Given the description of an element on the screen output the (x, y) to click on. 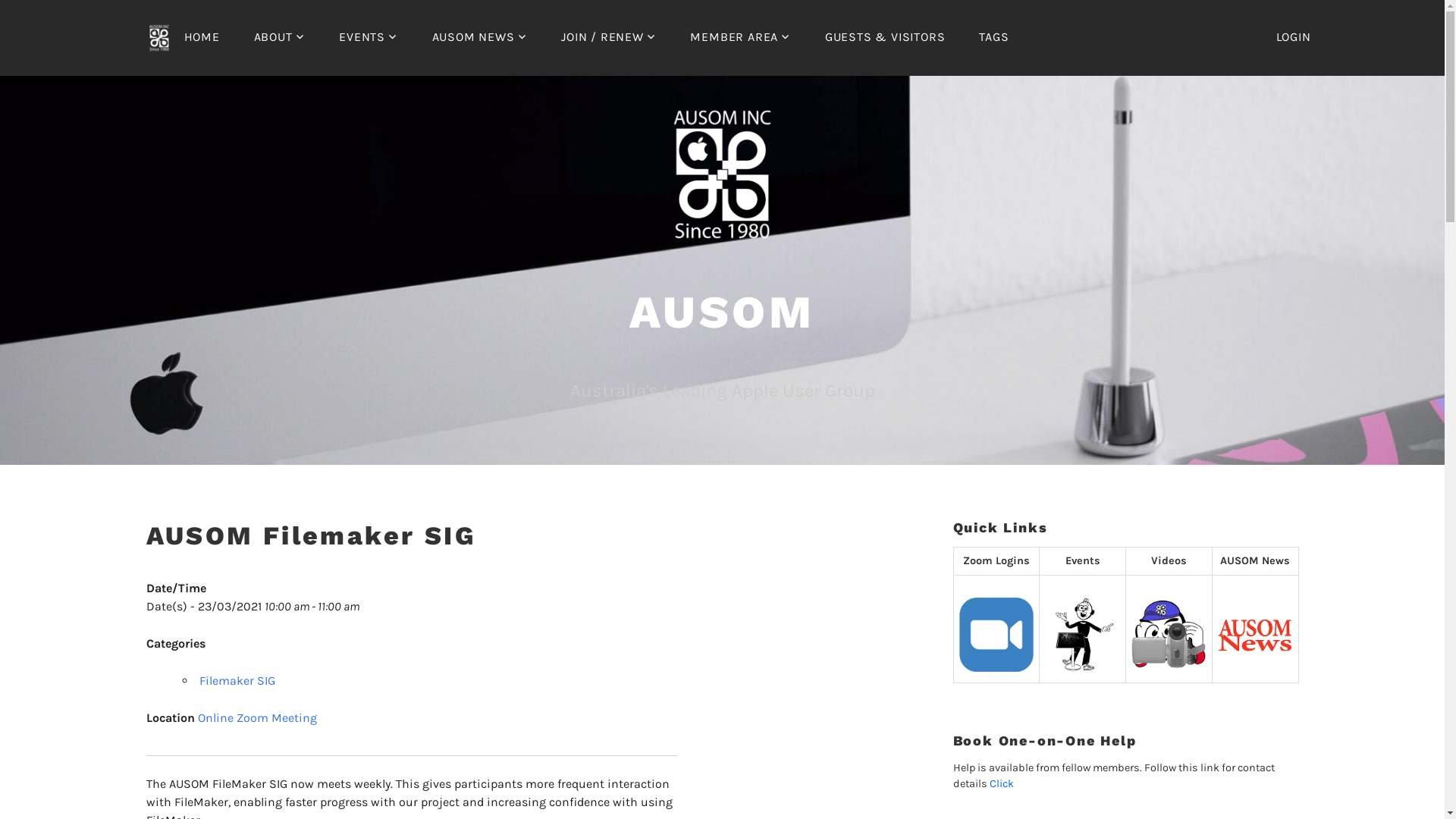
MEMBER AREA Element type: text (740, 36)
JOIN / RENEW Element type: text (608, 36)
GUESTS & VISITORS Element type: text (884, 36)
TAGS Element type: text (993, 36)
Online Zoom Meeting Element type: text (256, 718)
LOGIN Element type: text (1292, 36)
Filemaker SIG Element type: text (236, 681)
Click Element type: text (1000, 784)
EVENTS Element type: text (368, 36)
AUSOM Element type: text (722, 319)
ABOUT Element type: text (279, 36)
HOME Element type: text (183, 37)
AUSOM NEWS Element type: text (479, 36)
